Given the description of an element on the screen output the (x, y) to click on. 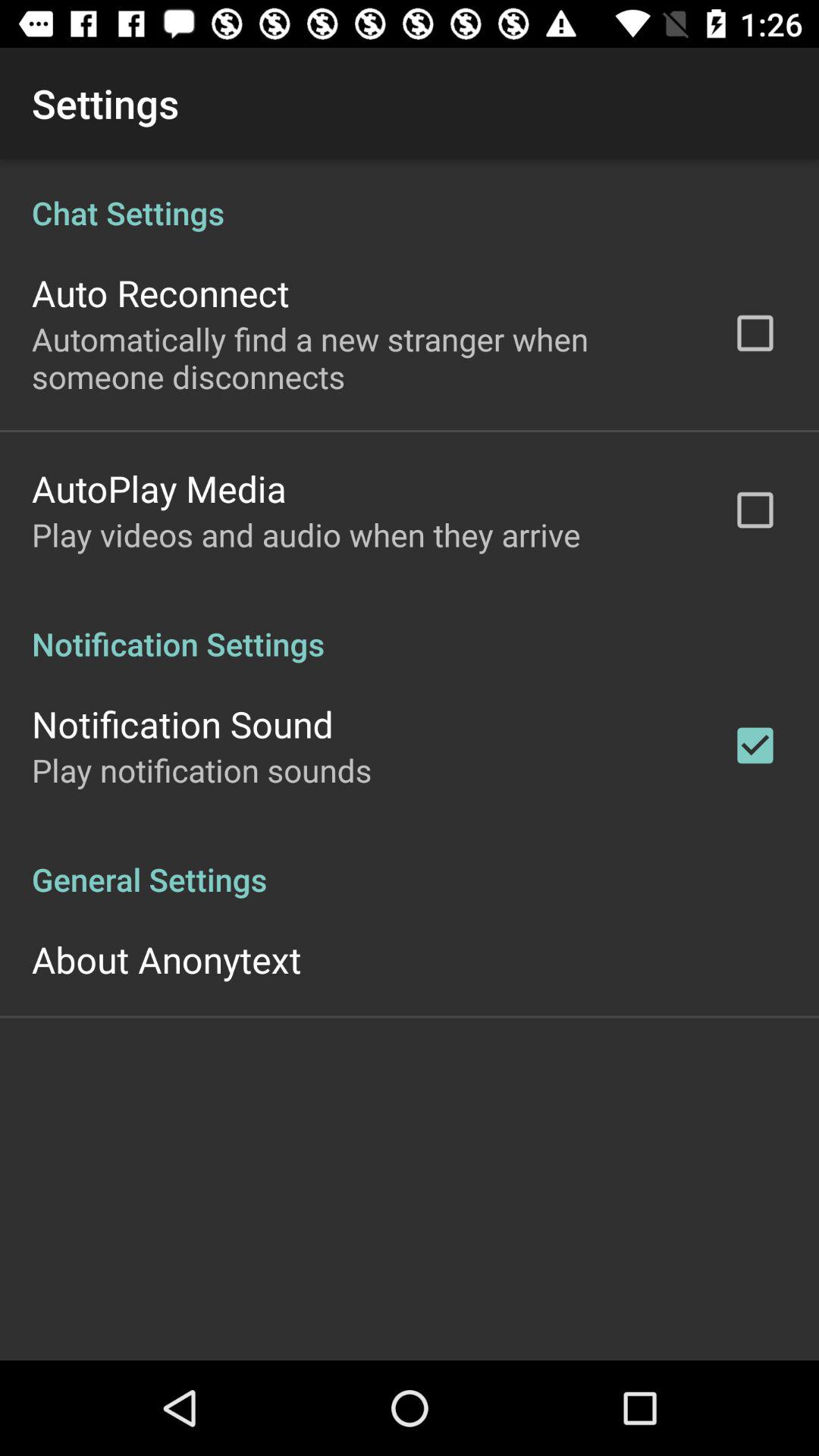
tap the notification settings icon (409, 627)
